Given the description of an element on the screen output the (x, y) to click on. 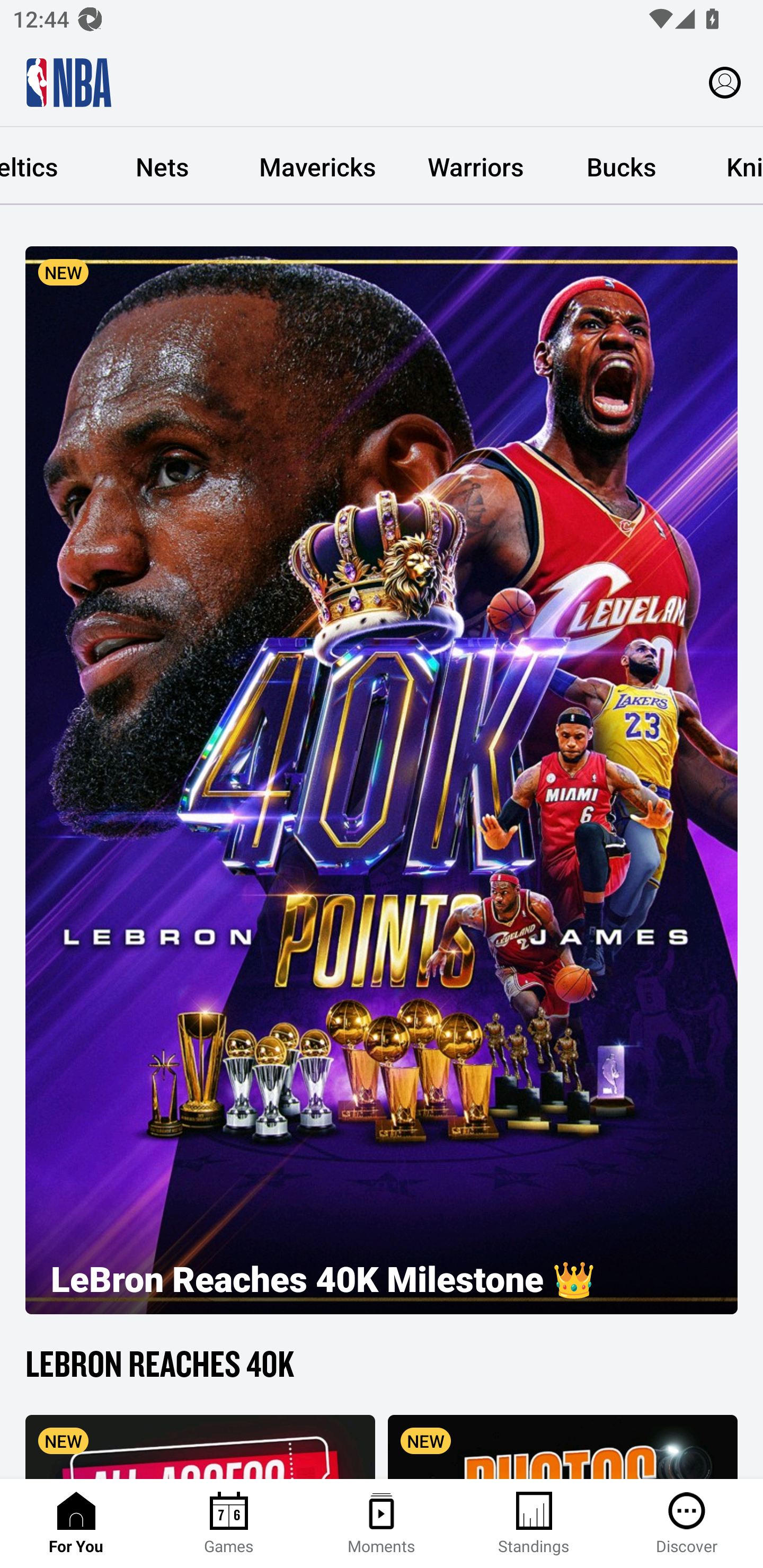
Profile (724, 81)
Nets (161, 166)
Mavericks (317, 166)
Warriors (476, 166)
Bucks (621, 166)
NEW LeBron Reaches 40K Milestone 👑 (381, 779)
LEBRON REACHES 40K NEW NEW (381, 1408)
Games (228, 1523)
Moments (381, 1523)
Standings (533, 1523)
Discover (686, 1523)
